Given the description of an element on the screen output the (x, y) to click on. 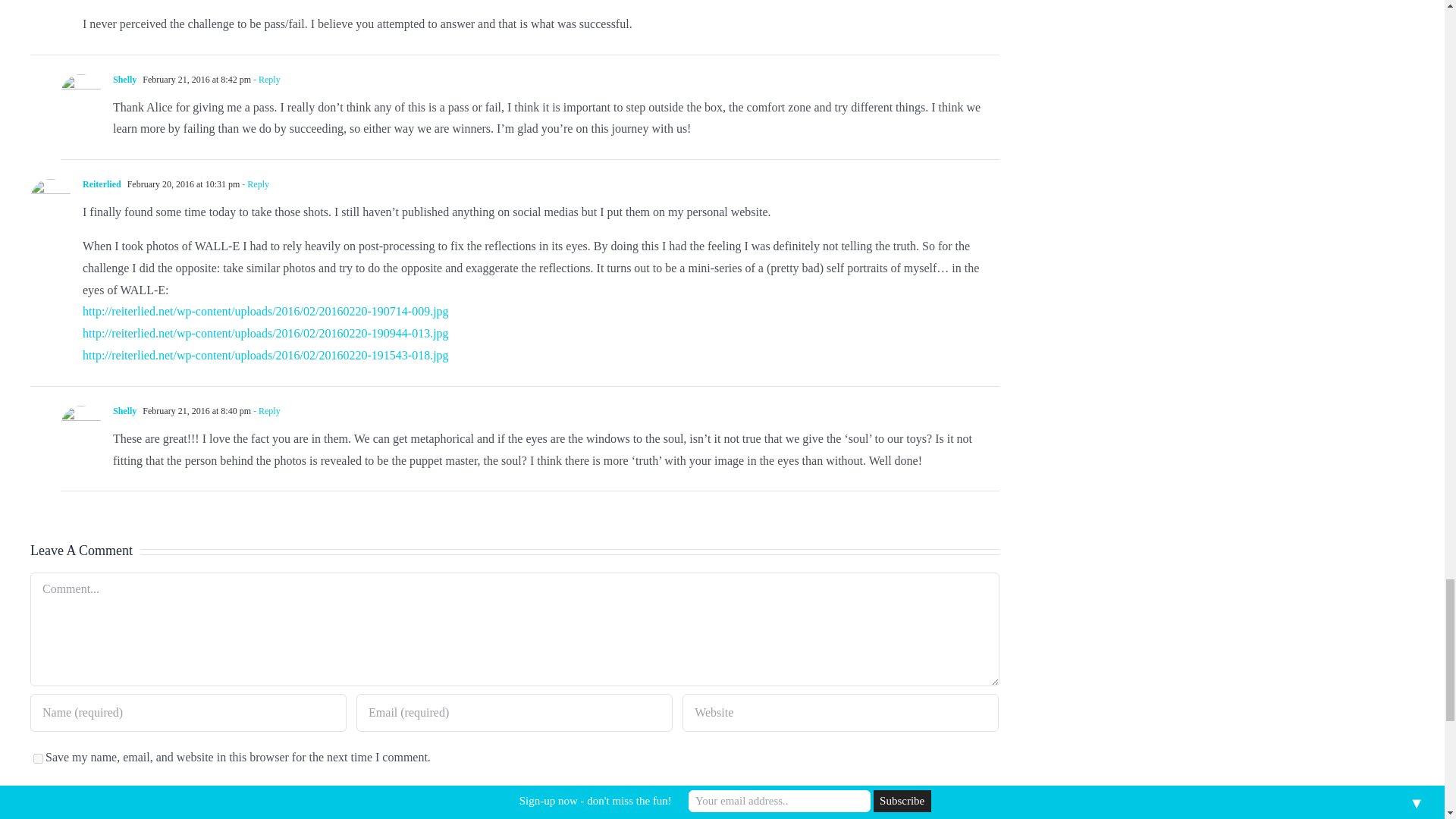
yes (38, 758)
1 (168, 792)
